Given the description of an element on the screen output the (x, y) to click on. 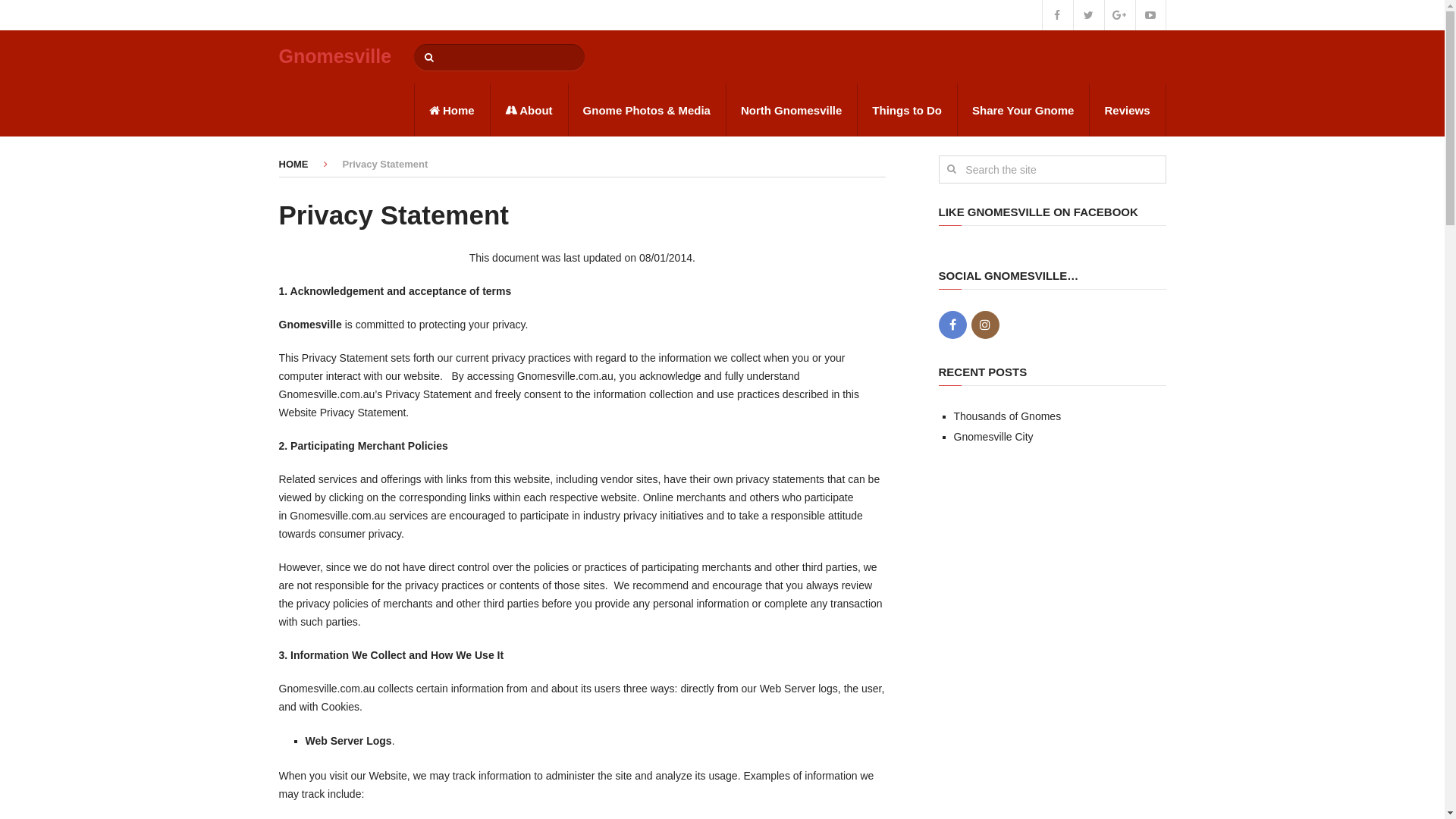
North Gnomesville Element type: text (790, 109)
Share Your Gnome Element type: text (1022, 109)
Things to Do Element type: text (906, 109)
Reviews Element type: text (1126, 109)
Gnome Photos & Media Element type: text (646, 109)
Home Element type: text (451, 109)
About Element type: text (528, 109)
HOME Element type: text (293, 163)
Gnomesville City Element type: text (993, 436)
Facebook Element type: hover (952, 324)
Instagram Element type: hover (984, 324)
Gnomesville Element type: text (335, 56)
Thousands of Gnomes Element type: text (1007, 416)
